Given the description of an element on the screen output the (x, y) to click on. 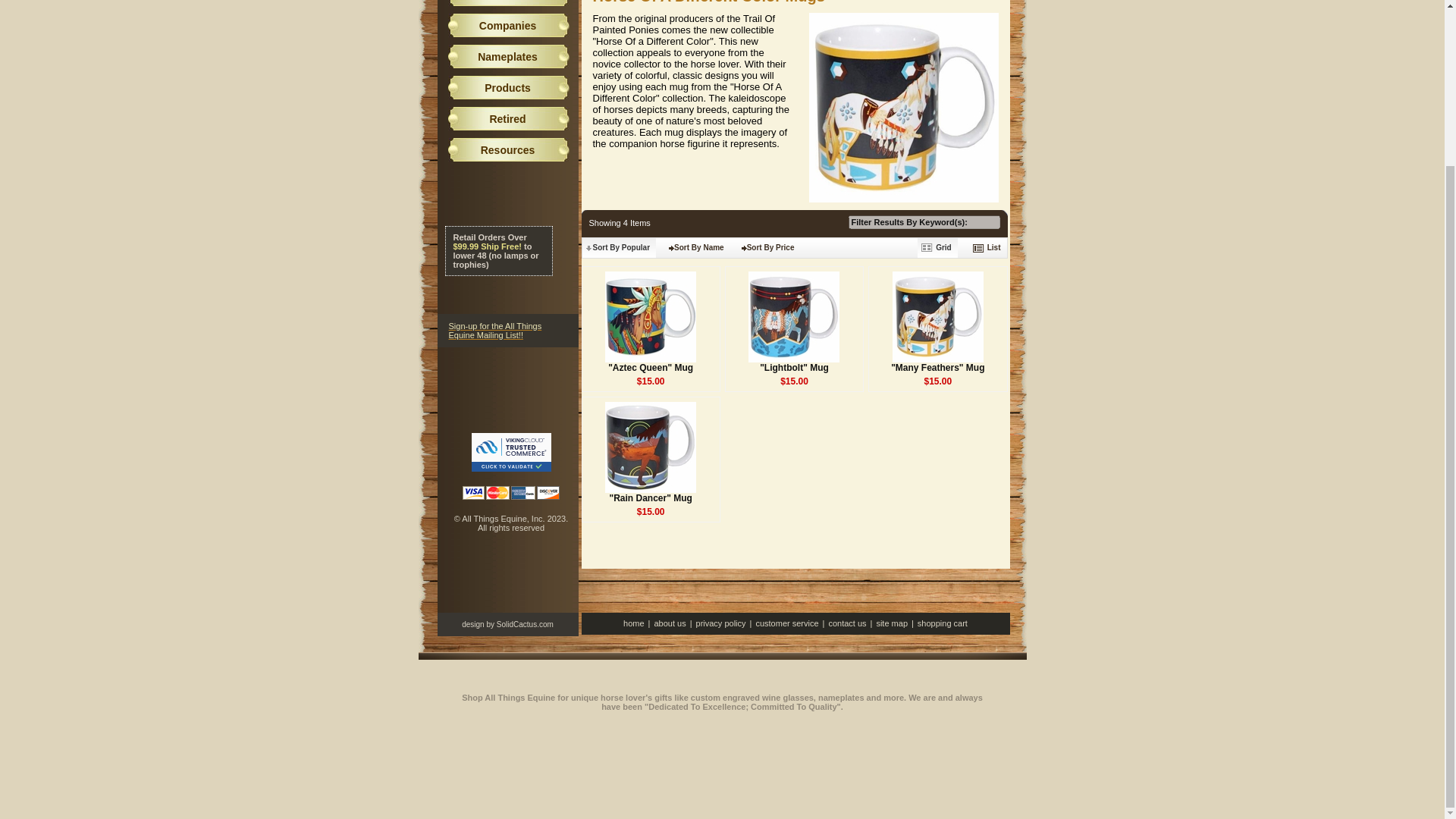
"Aztec Queen" Mug (650, 367)
"Many Feathers" Mug (937, 367)
"Lightbolt" Mug (794, 367)
"Rain Dancer" Mug (649, 498)
